Given the description of an element on the screen output the (x, y) to click on. 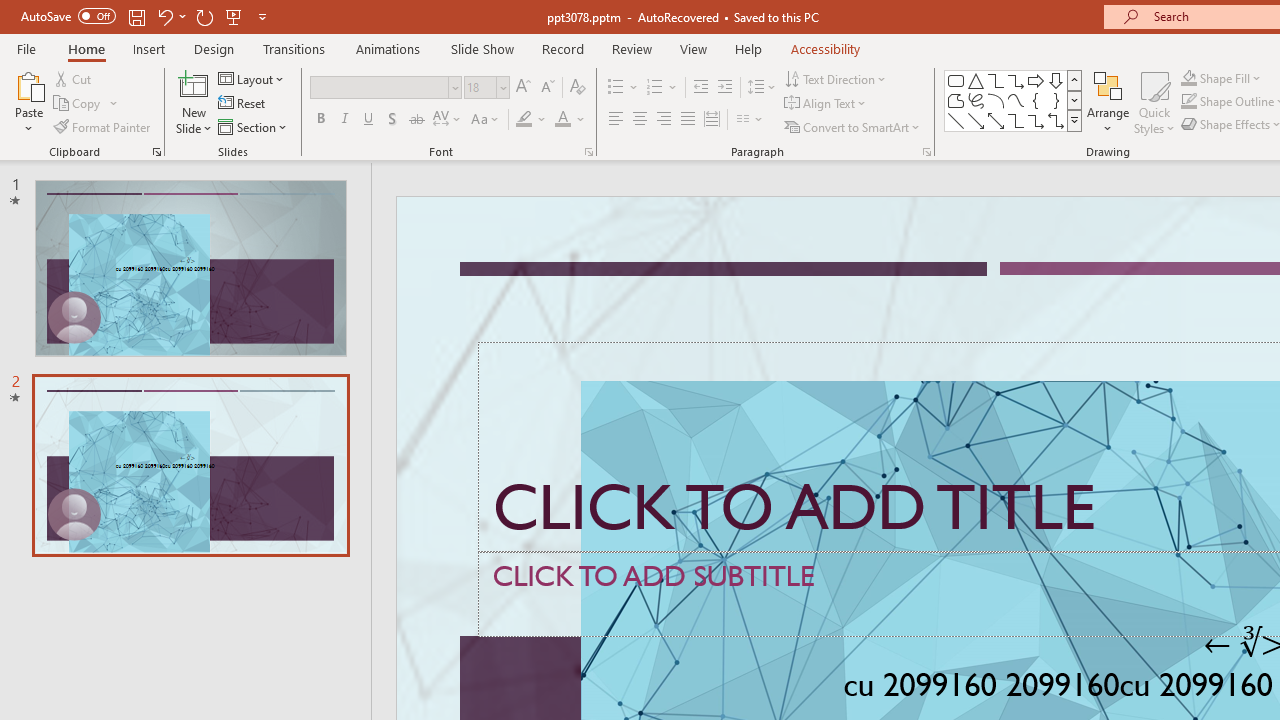
Line Arrow: Double (995, 120)
